Given the description of an element on the screen output the (x, y) to click on. 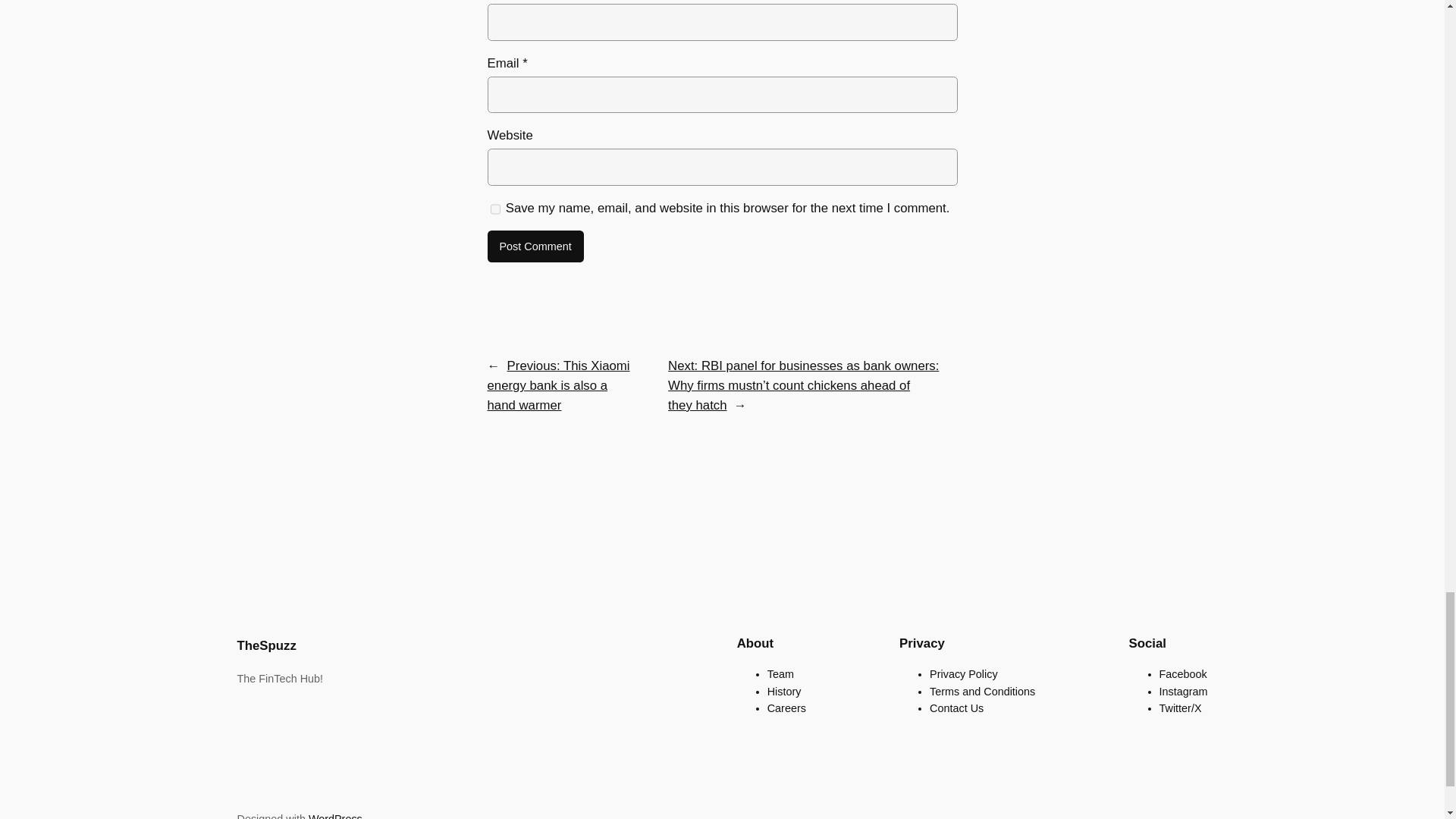
Privacy Policy (963, 674)
Facebook (1182, 674)
Contact Us (957, 707)
WordPress (335, 816)
Instagram (1182, 691)
Post Comment (534, 246)
Previous: This Xiaomi energy bank is also a hand warmer (557, 385)
History (784, 691)
TheSpuzz (265, 645)
Post Comment (534, 246)
